Given the description of an element on the screen output the (x, y) to click on. 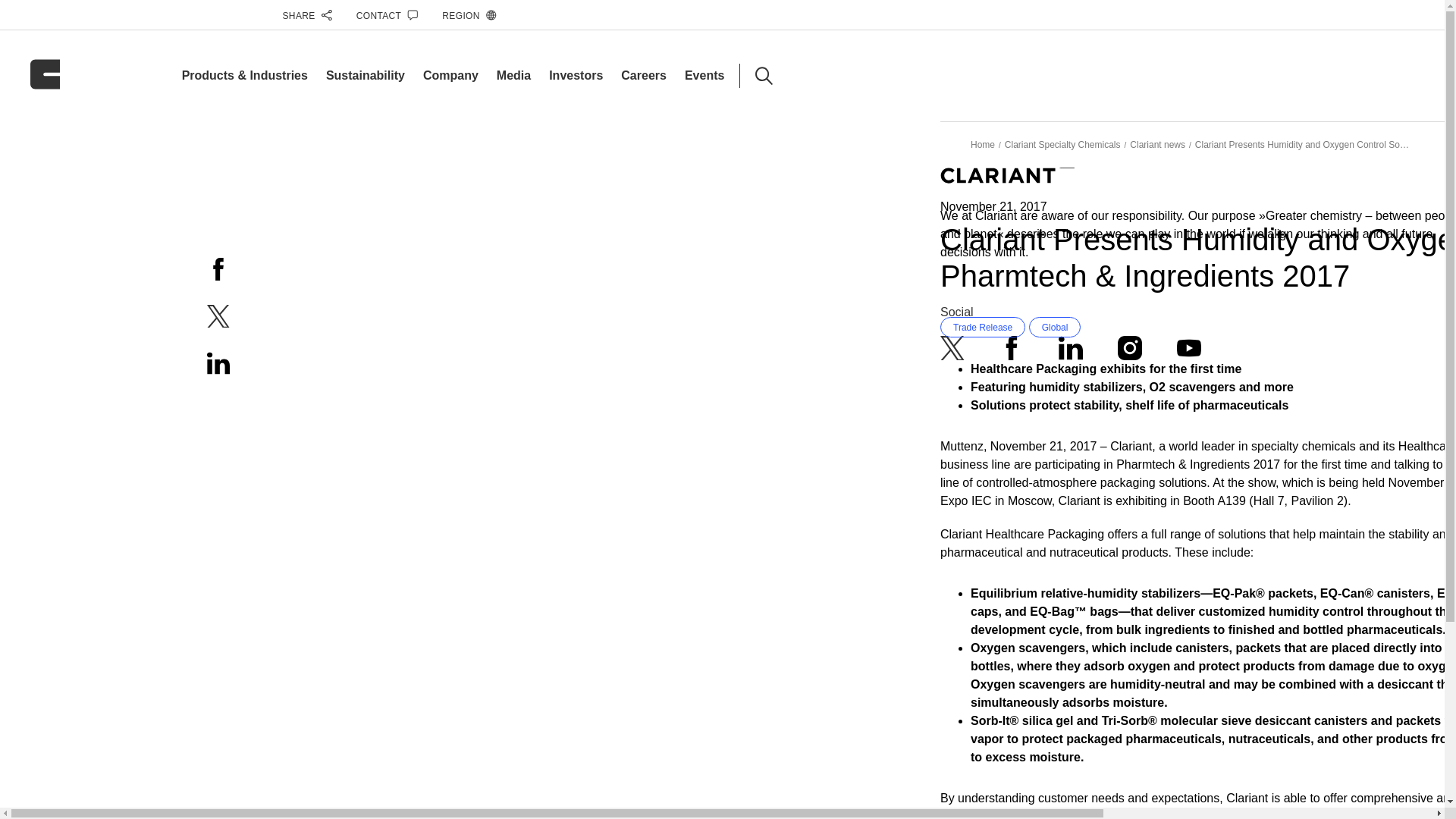
REGION (469, 14)
Company (451, 74)
SHARE (306, 14)
Clariant news (1157, 144)
Media (513, 74)
Events (703, 74)
Sustainability (365, 74)
Company (451, 74)
CONTACT (387, 14)
Media (513, 74)
